Given the description of an element on the screen output the (x, y) to click on. 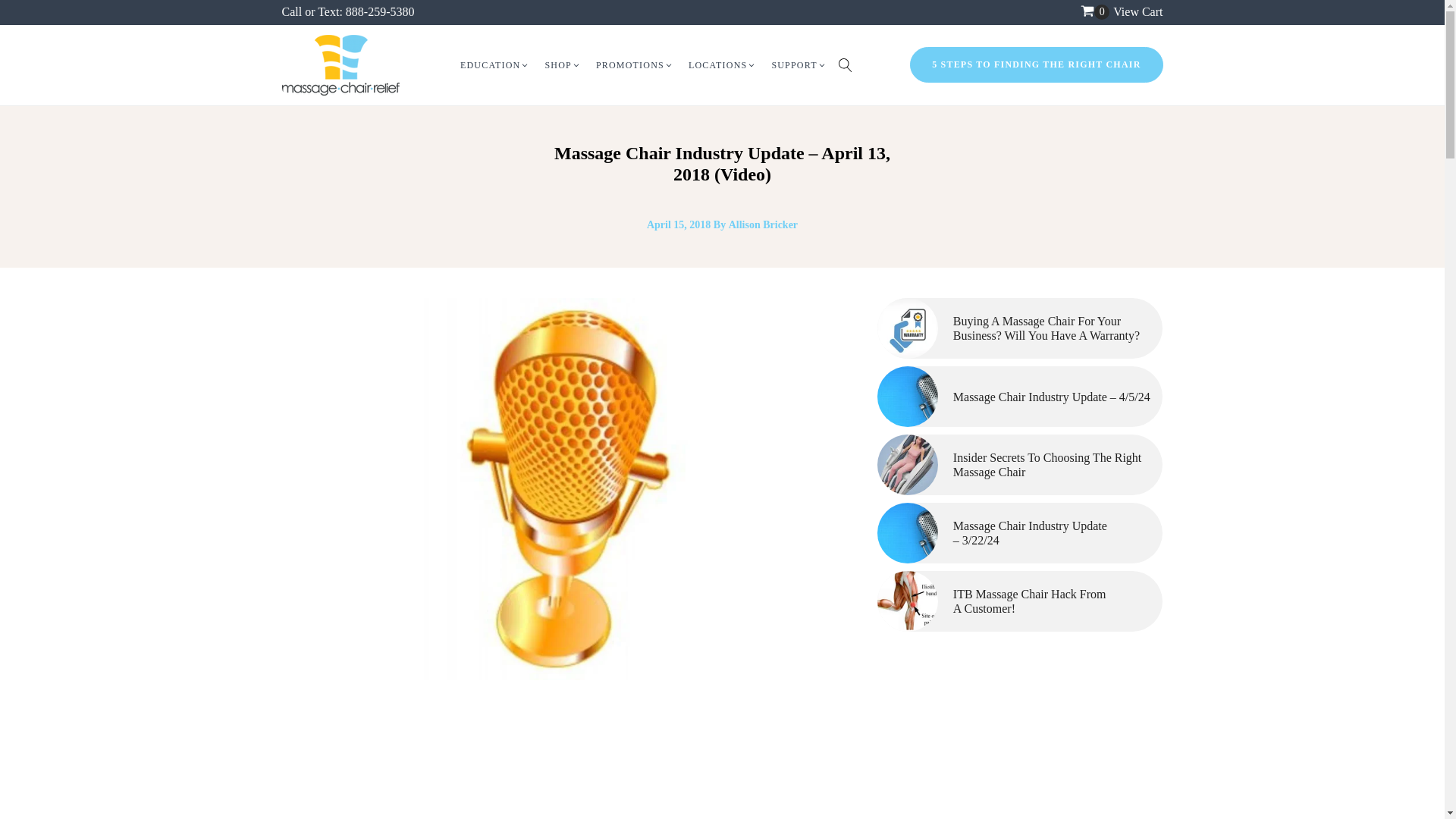
Go to Cart (1094, 12)
EDUCATION (494, 65)
SHOP (562, 65)
View Cart (1137, 11)
Call or Text: 888-259-5380 (348, 11)
